Given the description of an element on the screen output the (x, y) to click on. 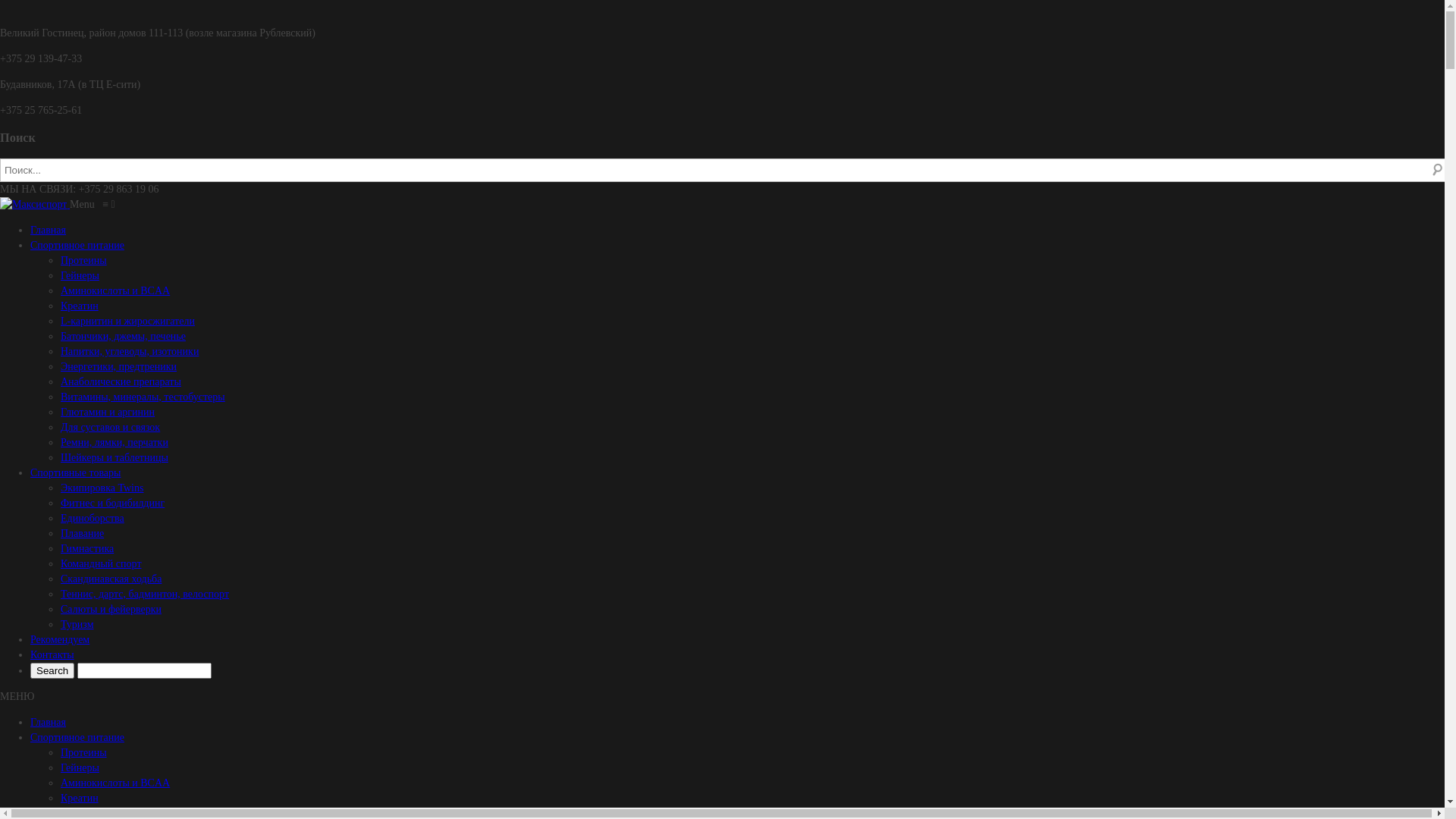
Search Element type: text (52, 670)
